Given the description of an element on the screen output the (x, y) to click on. 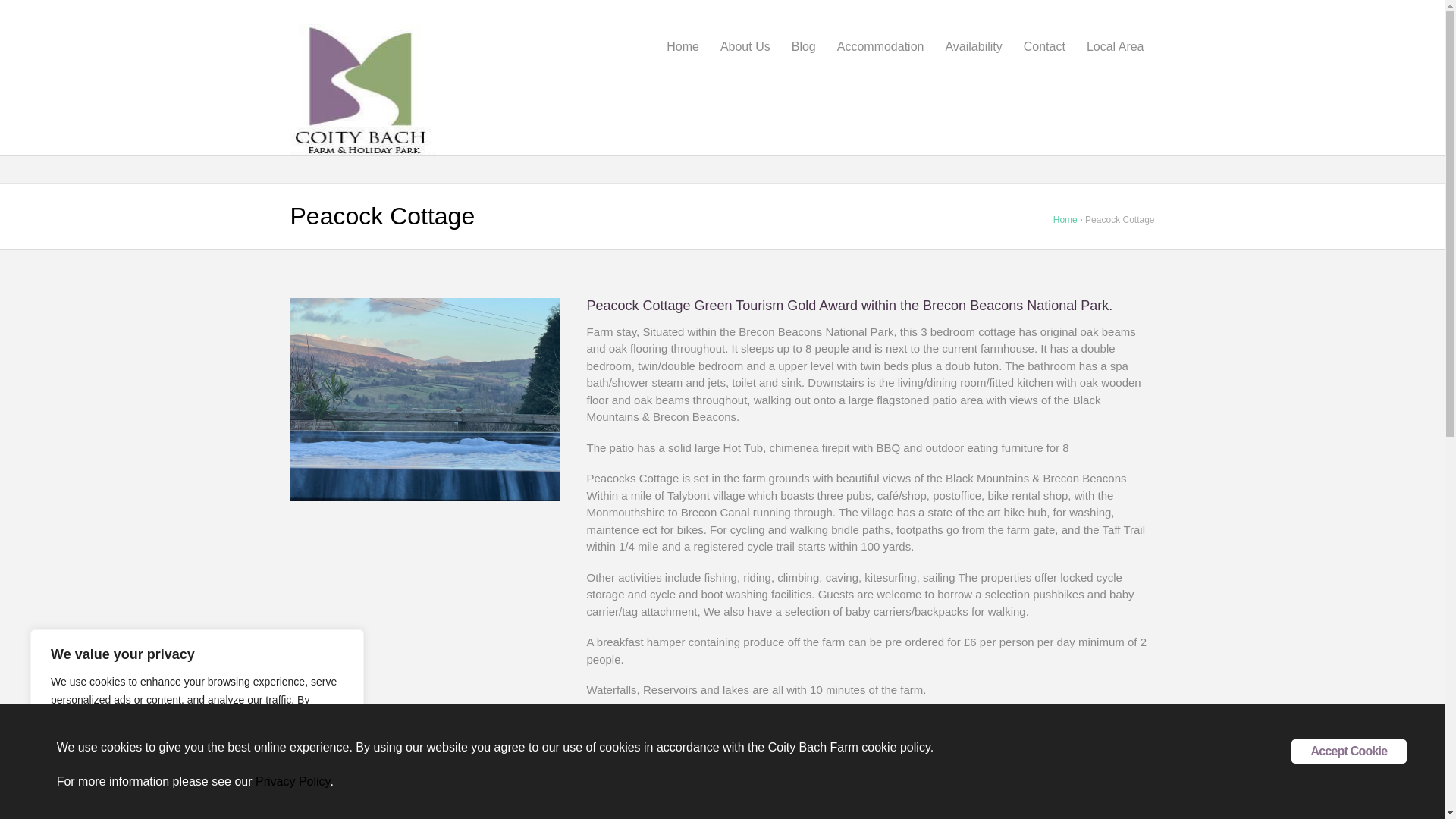
Accommodation (880, 43)
Customize (98, 756)
Reject All (198, 756)
Home (1064, 219)
Local Area (1114, 43)
Local Area (1114, 43)
Accept All (296, 756)
Book Now (618, 718)
Places to stay on Coity Bach Farm (880, 43)
Coity Bach (361, 81)
